Given the description of an element on the screen output the (x, y) to click on. 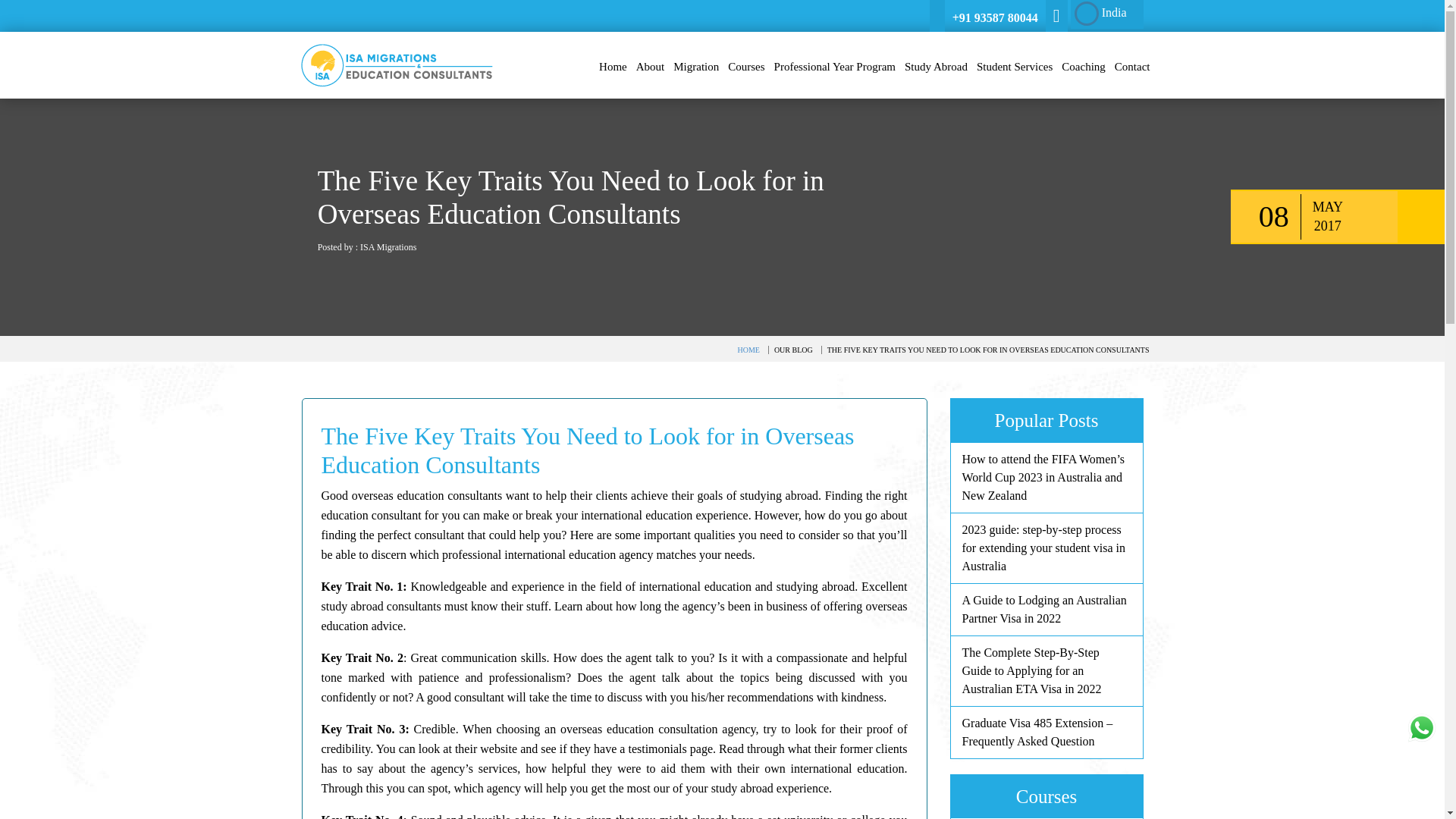
India (1106, 14)
Responsive Slide Menus (395, 63)
